Given the description of an element on the screen output the (x, y) to click on. 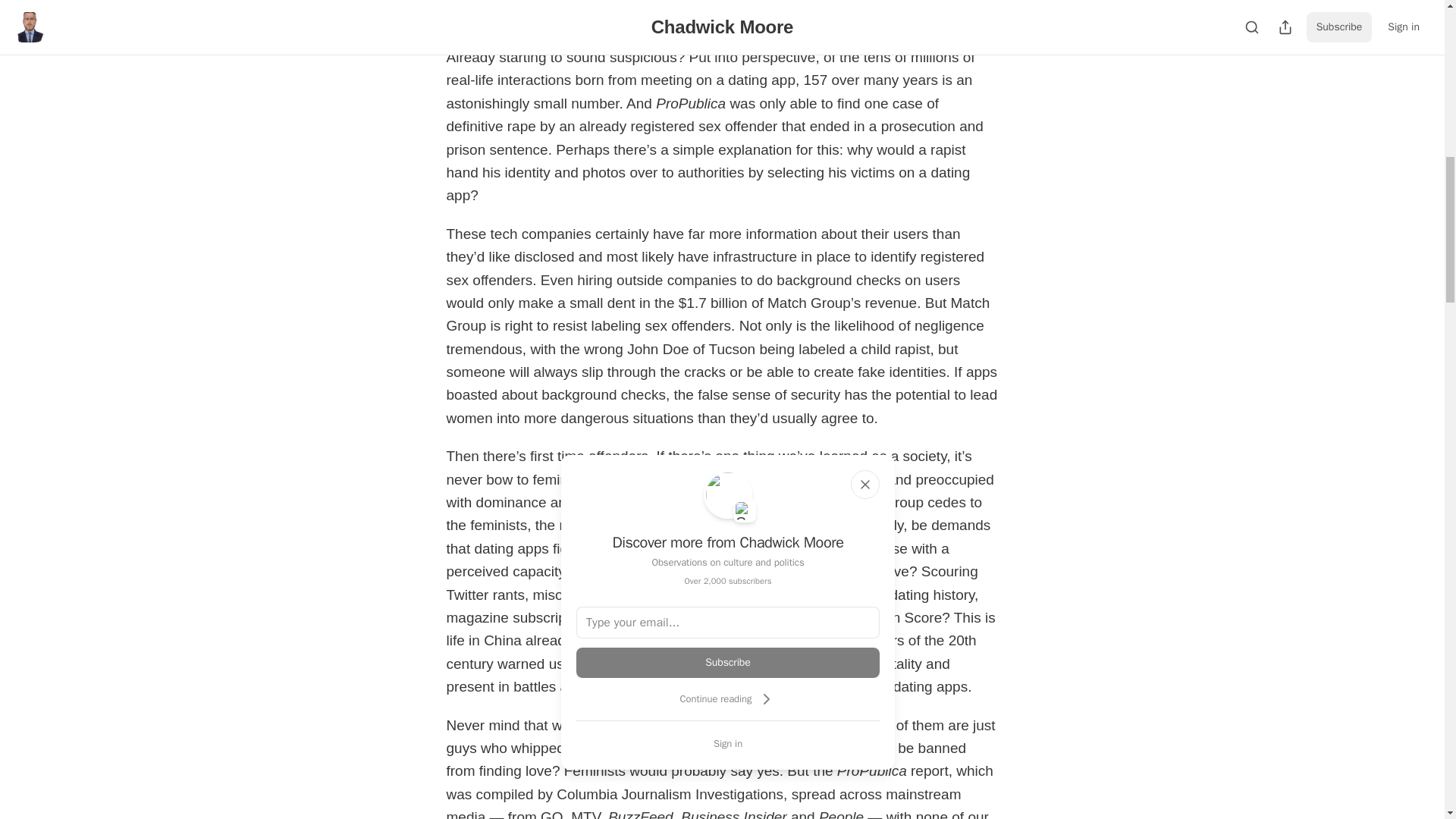
Subscribe (727, 662)
take a leak (774, 747)
Sign in (727, 743)
